Given the description of an element on the screen output the (x, y) to click on. 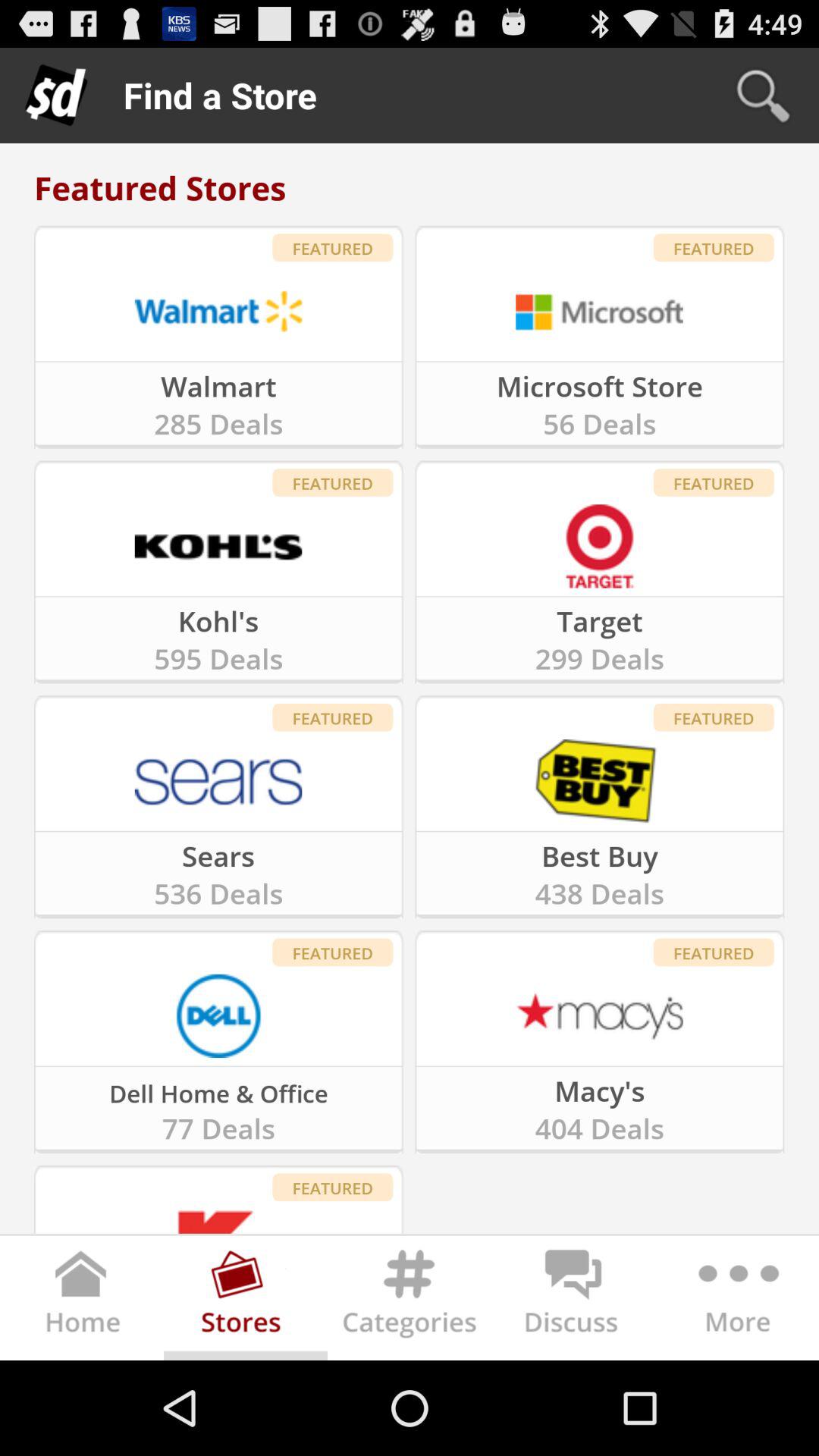
stores option (245, 1301)
